Given the description of an element on the screen output the (x, y) to click on. 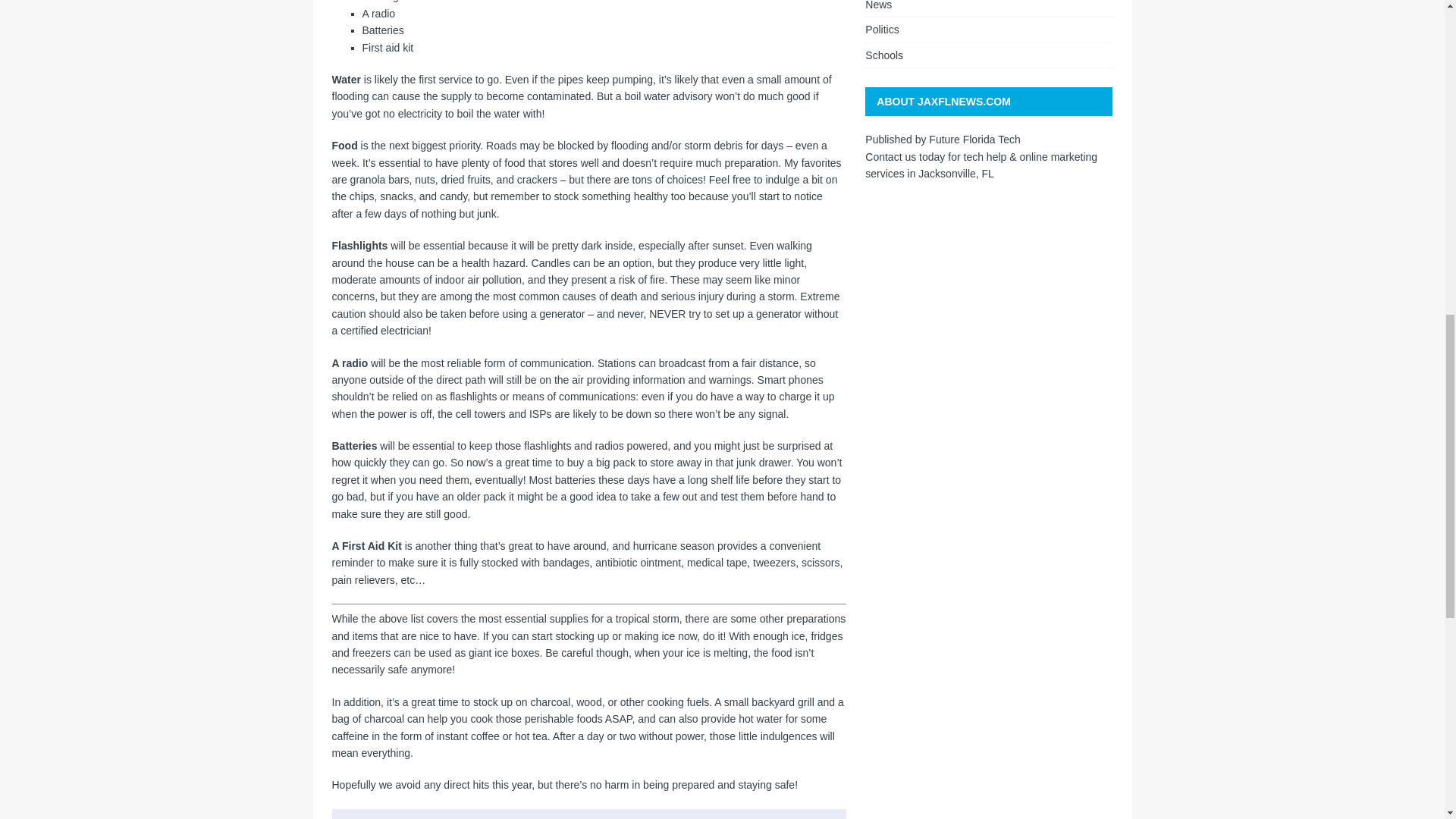
Schools (988, 55)
Future Florida Tech (974, 139)
News (988, 8)
Politics (988, 29)
Contact us (889, 155)
